Given the description of an element on the screen output the (x, y) to click on. 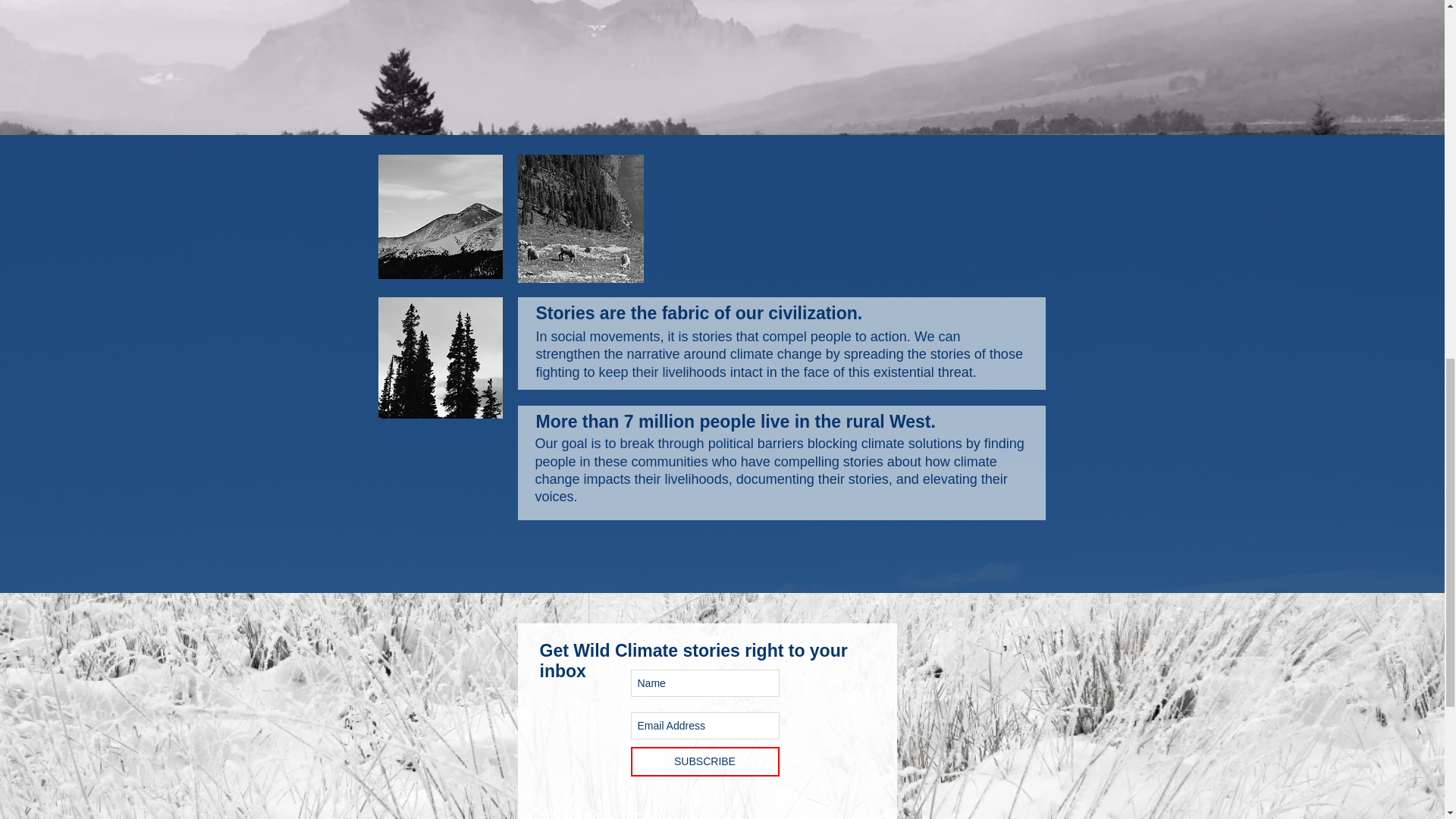
SUBSCRIBE (704, 761)
